Given the description of an element on the screen output the (x, y) to click on. 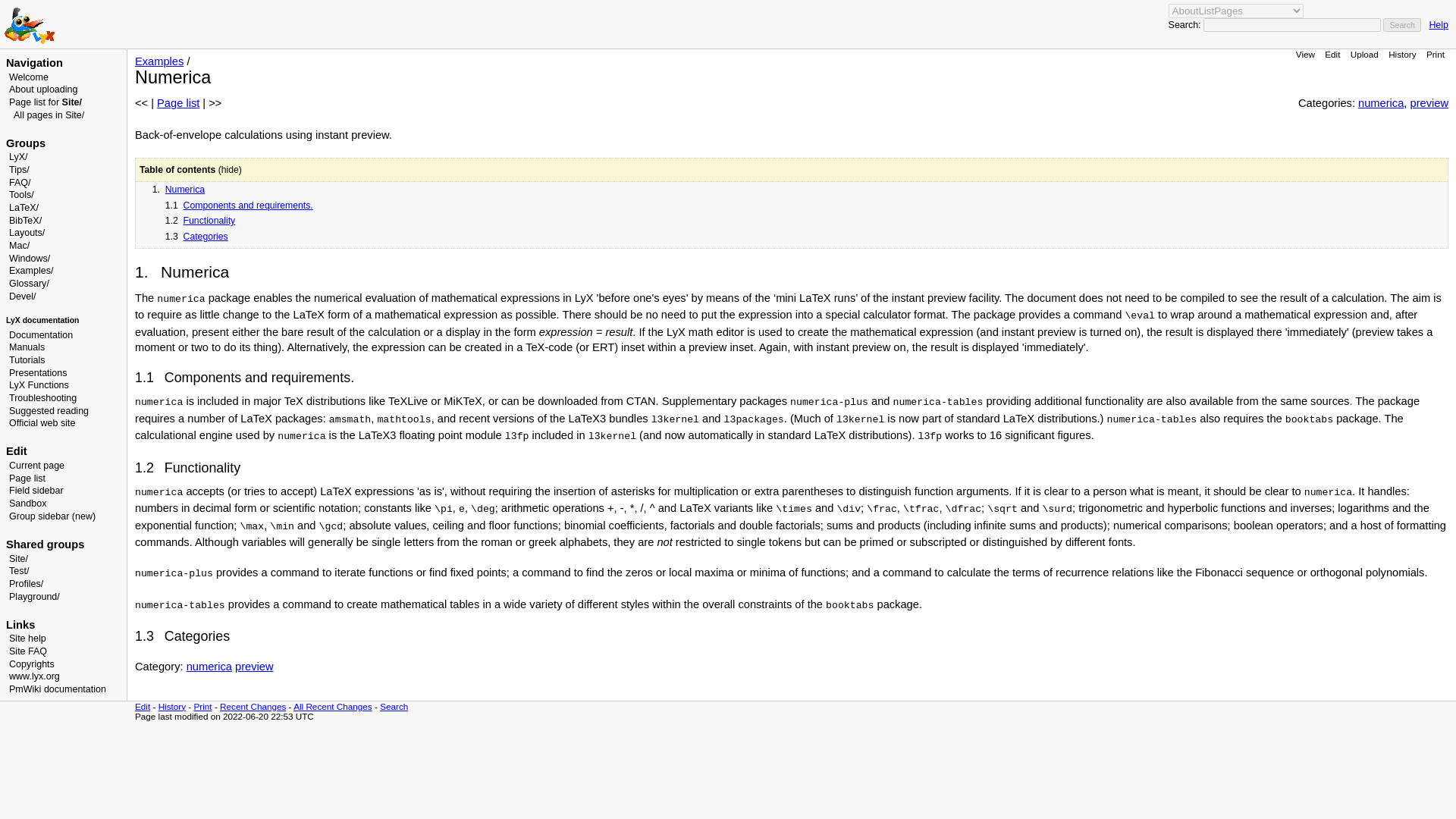
Sandbox (27, 502)
Glossary (27, 283)
Help (1438, 24)
LyX documentation (41, 320)
Groups (25, 143)
Page list (26, 478)
Devel (20, 296)
Search (1402, 24)
Presentations (37, 372)
Navigation (33, 62)
Documentation (40, 335)
Manuals (26, 347)
Shared groups (44, 544)
About uploading (42, 89)
Welcome (28, 77)
